Given the description of an element on the screen output the (x, y) to click on. 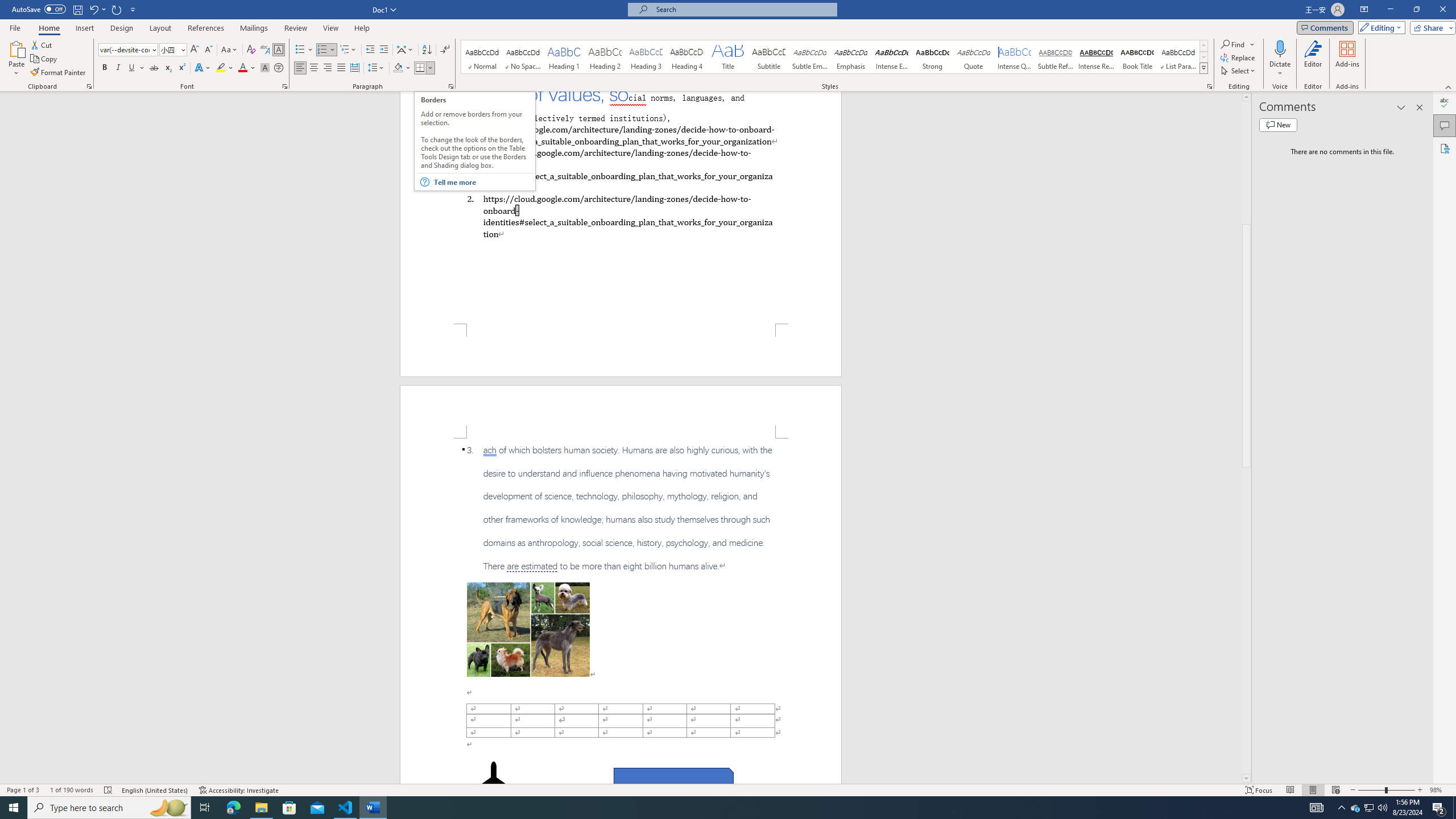
Undo Border Bottom (96, 9)
Spelling and Grammar Check Errors (108, 790)
Rectangle: Diagonal Corners Snipped 2 (672, 781)
Book Title (1136, 56)
Page 2 content (620, 610)
